Given the description of an element on the screen output the (x, y) to click on. 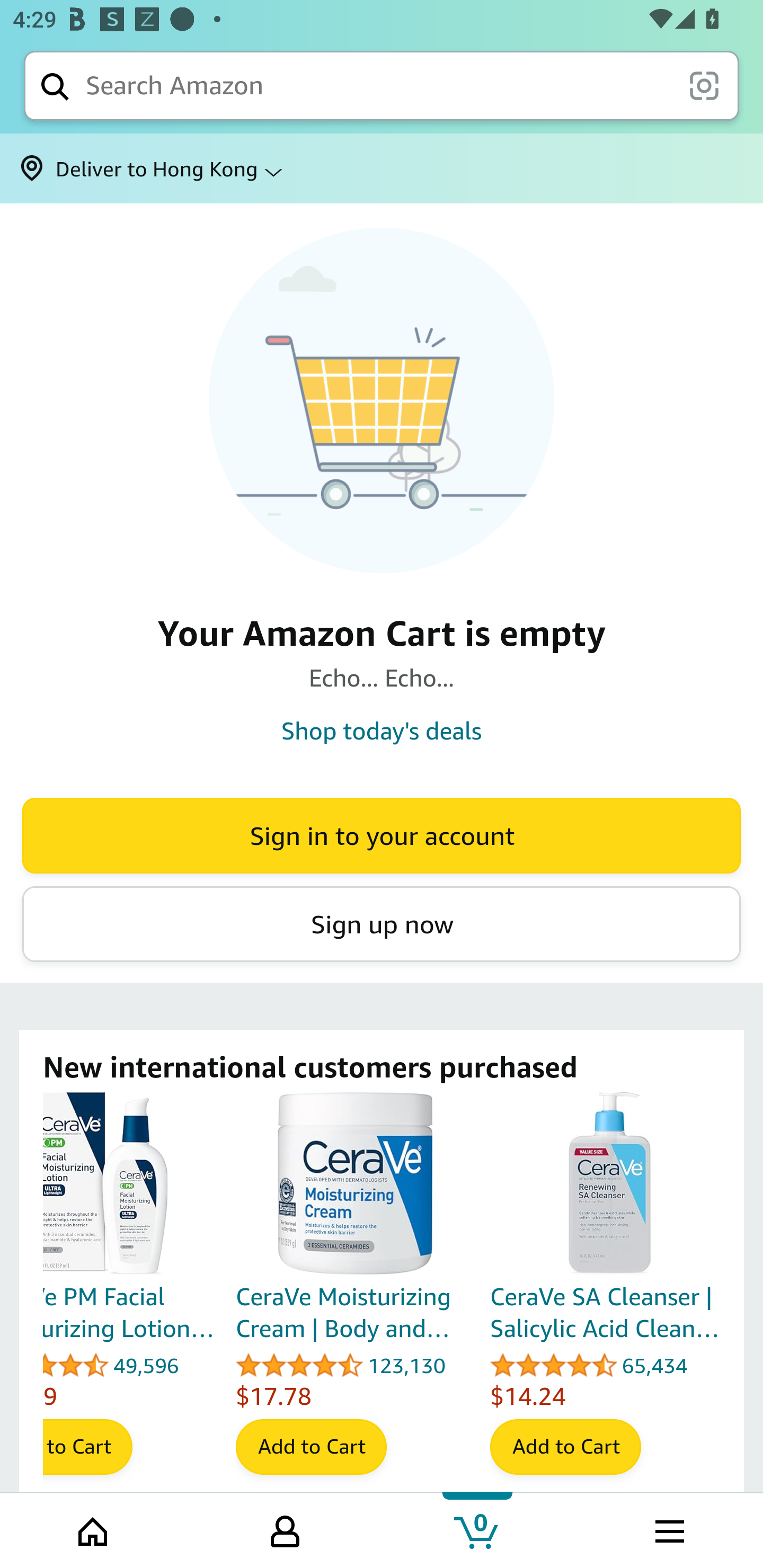
Search Search Search Amazon scan it (381, 85)
scan it (704, 85)
Deliver to Hong Kong ⌵ (381, 168)
Shop today's deals (381, 729)
Sign in to your account (381, 835)
Sign up now (381, 924)
Home Tab 1 of 4 (94, 1529)
Your Amazon.com Tab 2 of 4 (285, 1529)
Cart 0 item Tab 3 of 4 0 (477, 1529)
Browse menu Tab 4 of 4 (668, 1529)
